Given the description of an element on the screen output the (x, y) to click on. 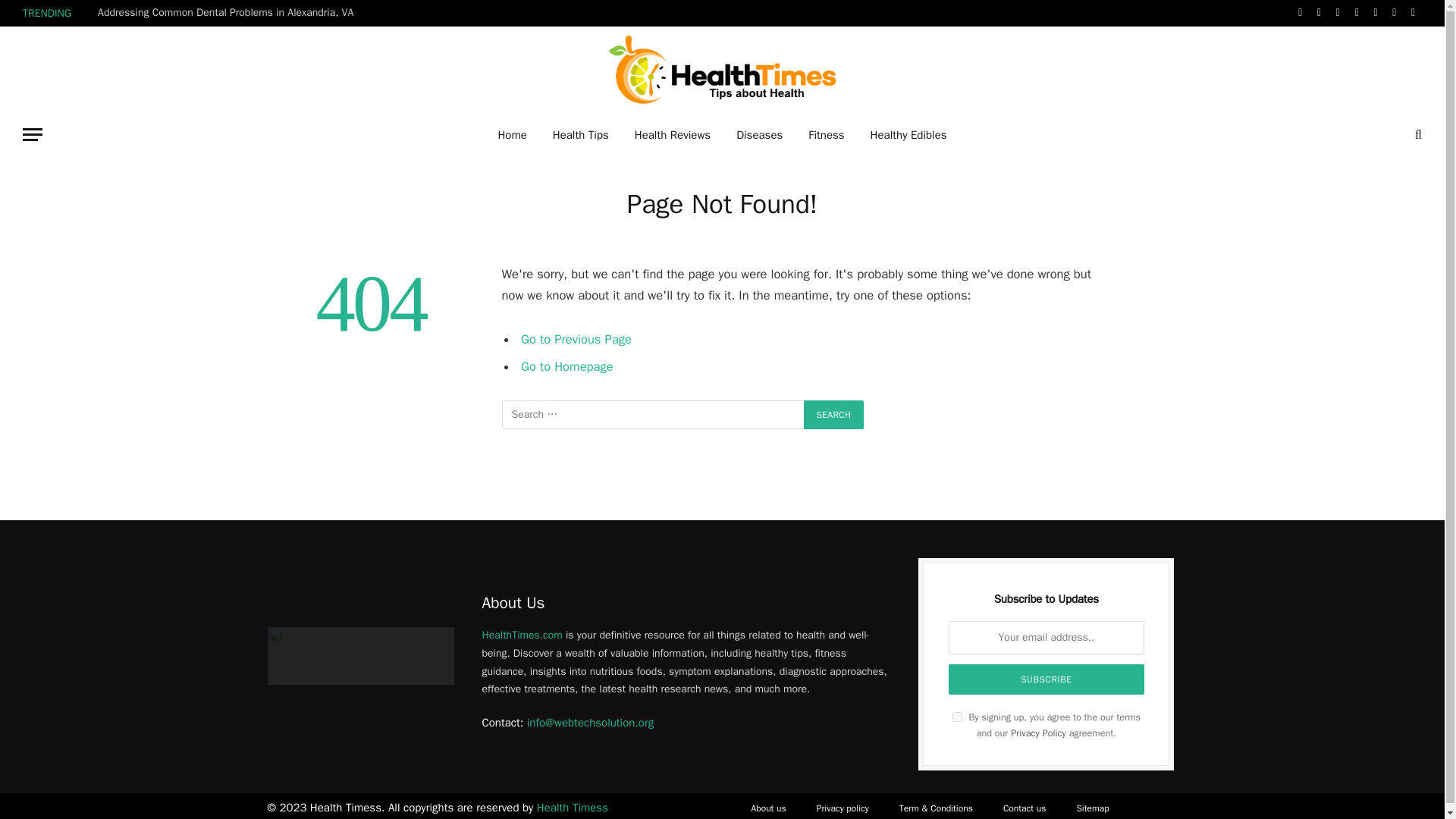
Fitness (825, 134)
Healthy Edibles (908, 134)
on (957, 716)
Search (833, 414)
Subscribe (1046, 679)
Home (511, 134)
Diseases (758, 134)
Search (833, 414)
Addressing Common Dental Problems in Alexandria, VA (229, 12)
Health Reviews (672, 134)
